Given the description of an element on the screen output the (x, y) to click on. 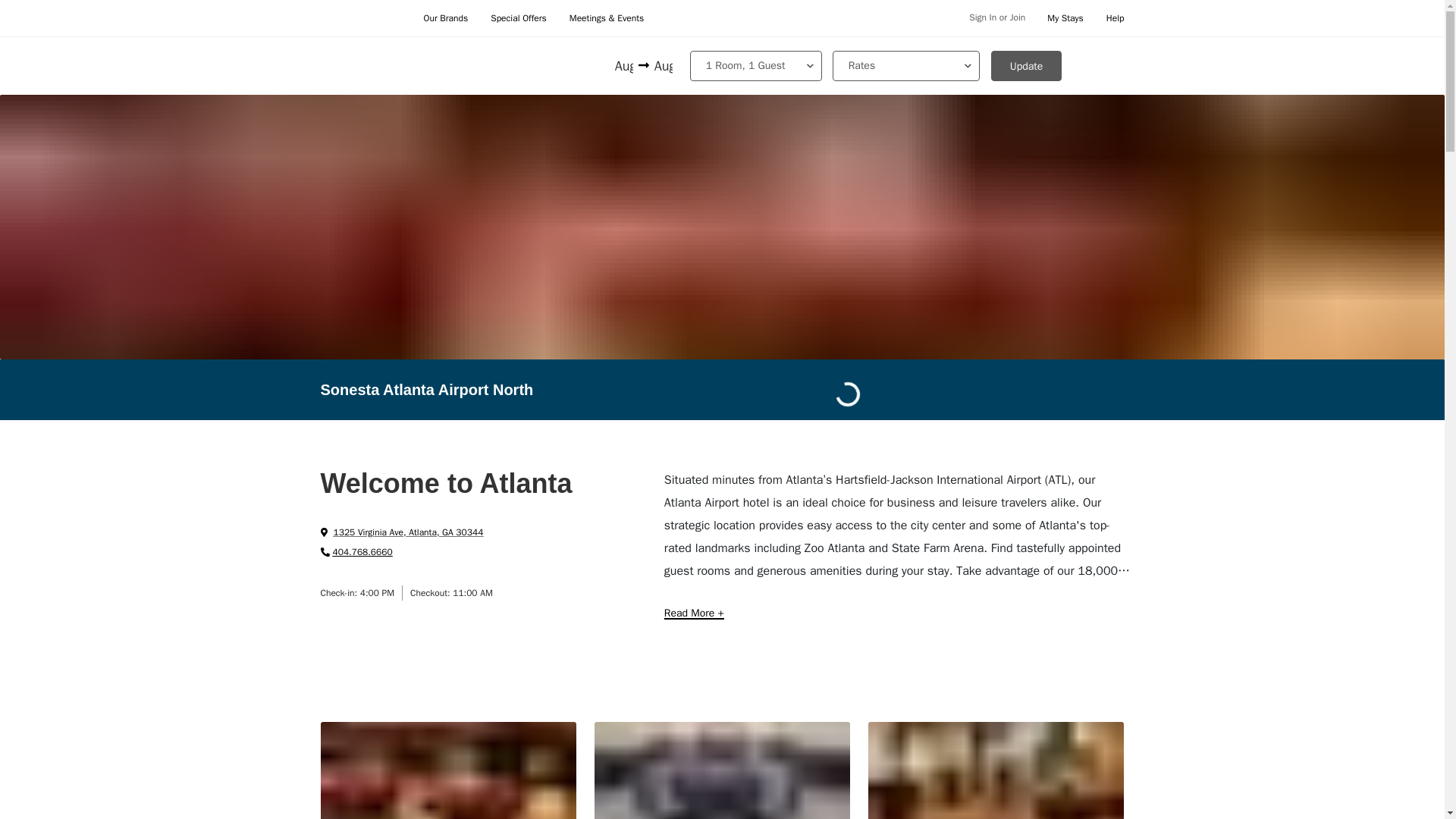
Special Offers (518, 18)
1 Room, 1 Guest (756, 65)
My Stays (1064, 18)
404.768.6660 (355, 551)
Aug 30 (625, 66)
1325 Virginia Ave, Atlanta, GA 30344 (401, 532)
Our Brands (445, 18)
Aug 31 (661, 66)
Help (1115, 18)
